Given the description of an element on the screen output the (x, y) to click on. 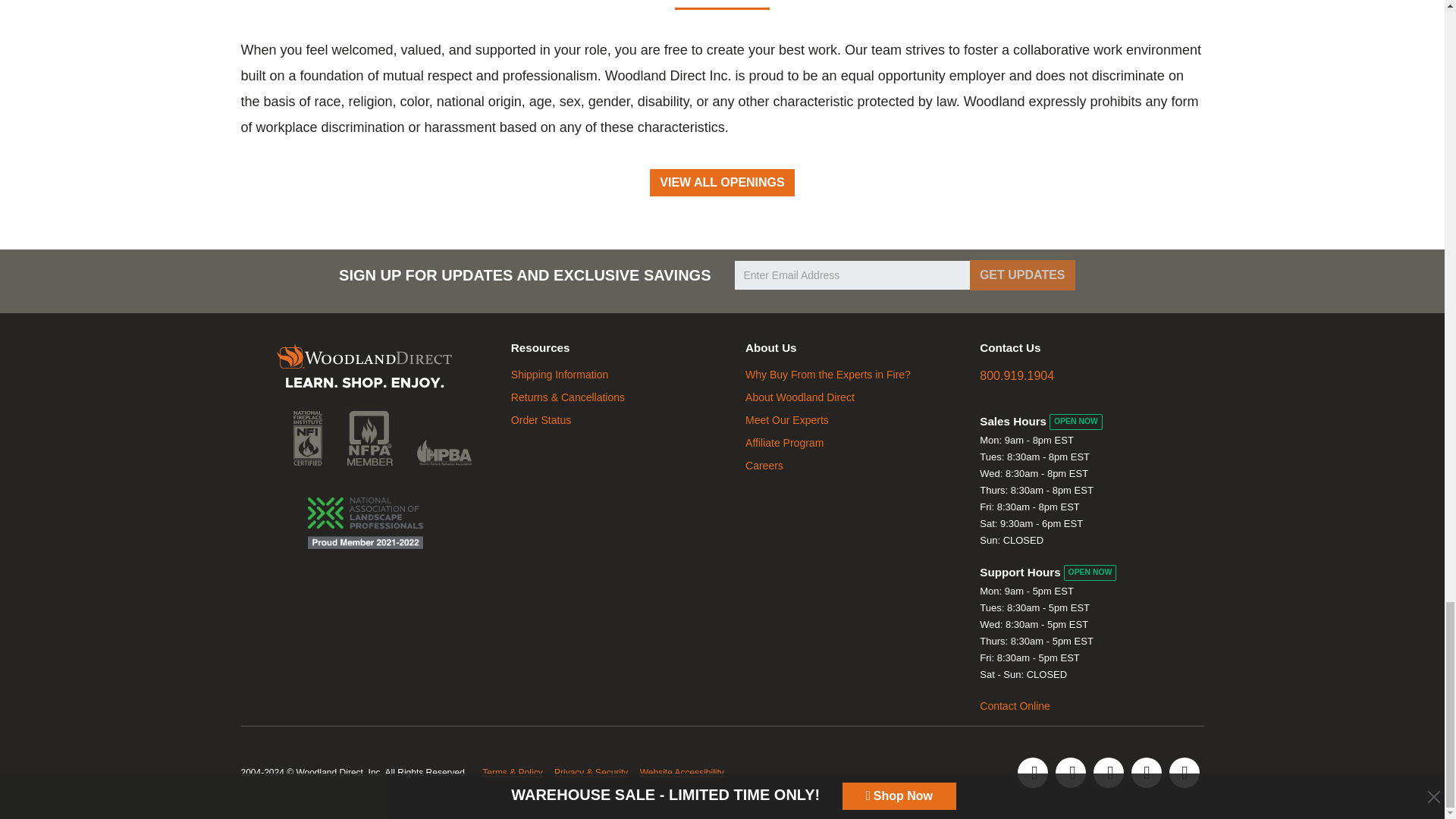
Go to Why Buy From the Experts in Fire (828, 374)
Go Home (363, 368)
Go to Meet Our Experts (786, 419)
Go to Affiliate Program (784, 442)
Go to Shipping Information (559, 374)
Call 800.919.1904 (1016, 375)
Go to About Woodland Direct (799, 397)
Go to Contact Online (1014, 705)
Go to Careers (764, 465)
Go to Order Status (540, 419)
